Given the description of an element on the screen output the (x, y) to click on. 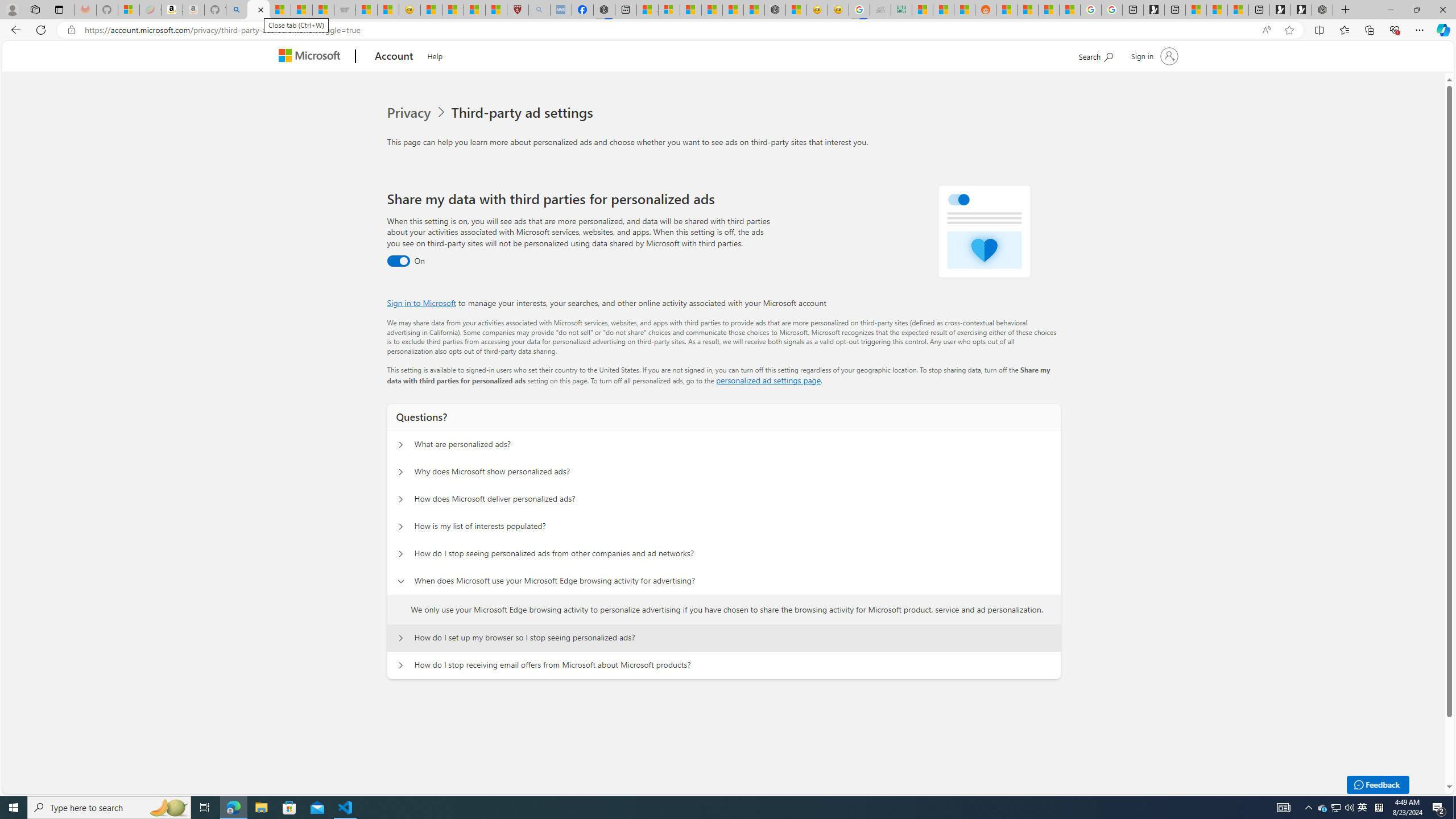
Help (435, 54)
Account (394, 56)
Recipes - MSN (431, 9)
14 Common Myths Debunked By Scientific Facts (732, 9)
